Given the description of an element on the screen output the (x, y) to click on. 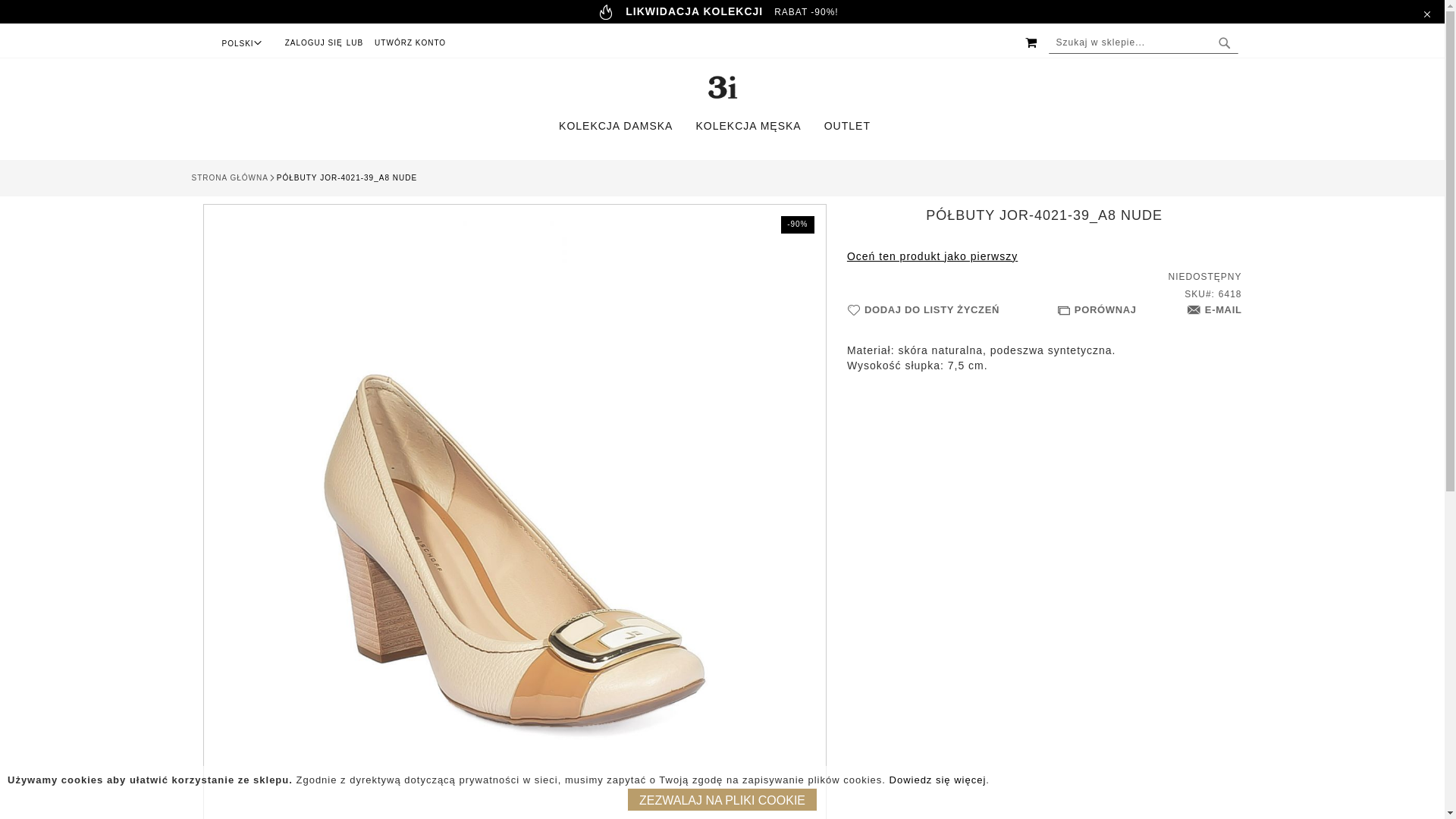
OUTLET Element type: text (850, 126)
Sklep internetowy 3i Element type: hover (721, 88)
KOLEKCJA DAMSKA Element type: text (622, 126)
Sklep internetowy 3i Element type: hover (721, 87)
SZUKAJ Element type: text (1223, 43)
ZEZWALAJ NA PLIKI COOKIE Element type: text (722, 799)
E-MAIL Element type: text (1214, 310)
